Given the description of an element on the screen output the (x, y) to click on. 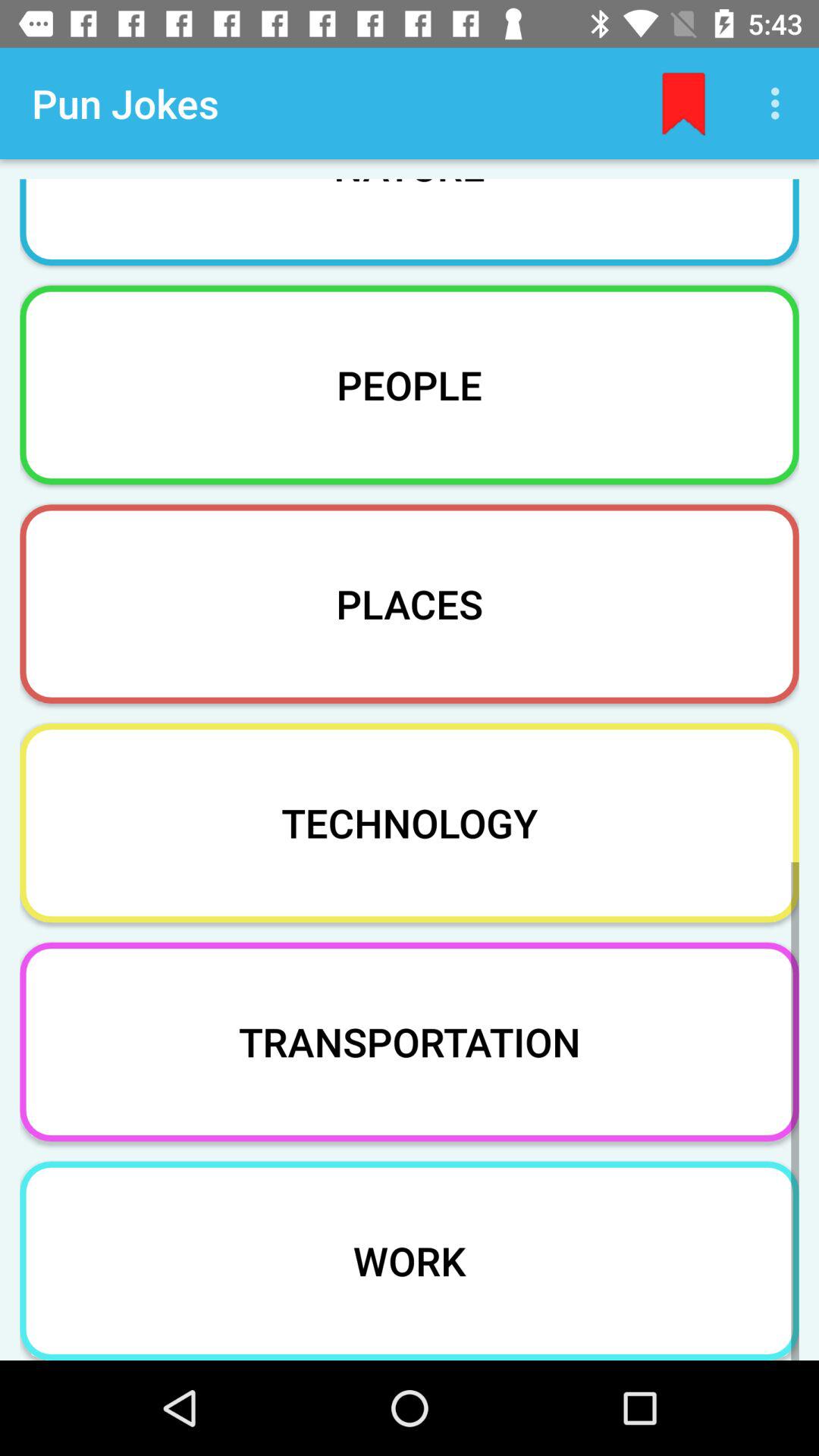
press app next to the pun jokes app (683, 103)
